Given the description of an element on the screen output the (x, y) to click on. 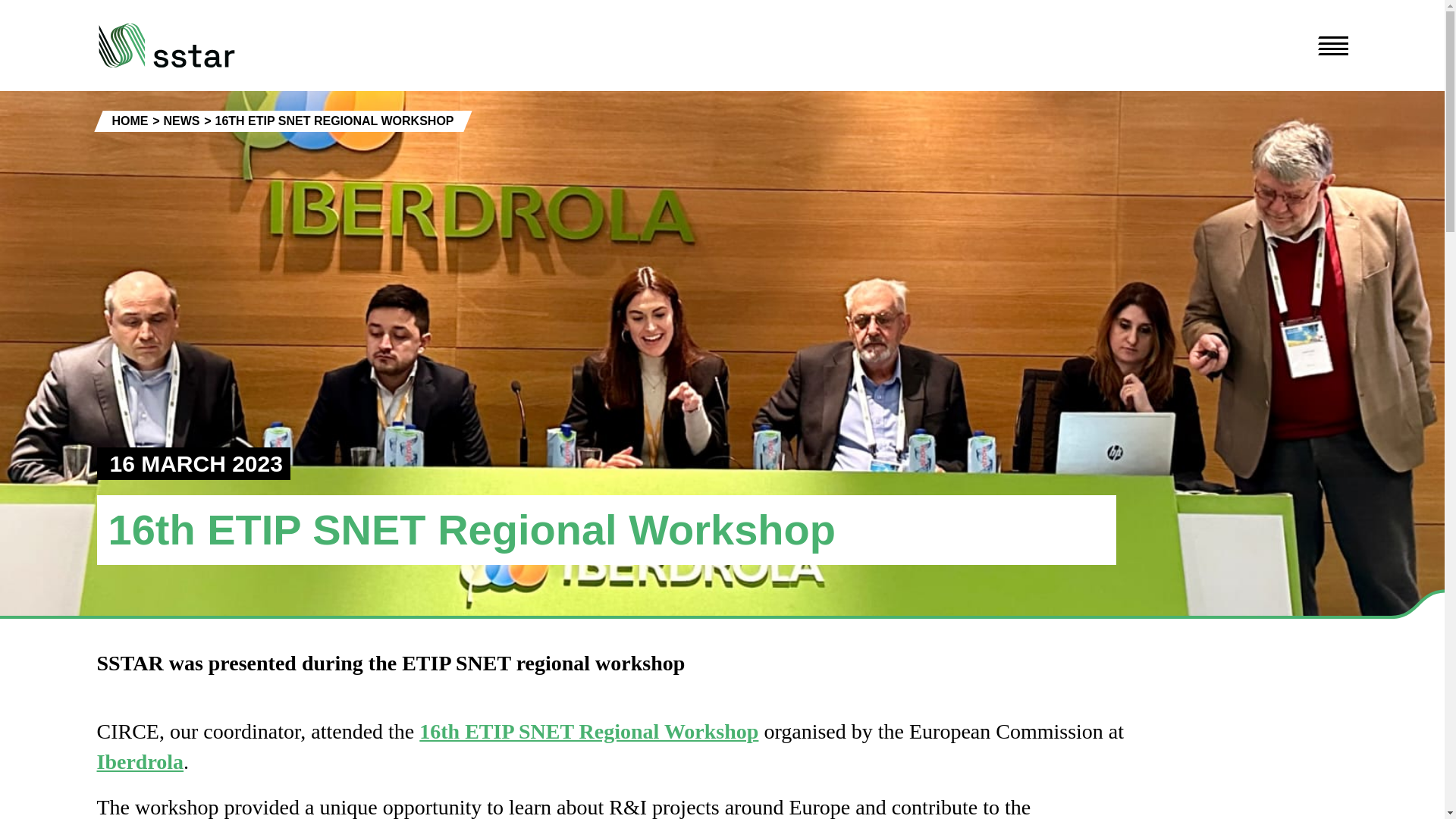
NEWS (181, 120)
Sstar (130, 120)
Iberdrola (140, 761)
HOME (130, 120)
Sstar (167, 44)
All News (181, 120)
16th ETIP SNET Regional Workshop (588, 730)
